Given the description of an element on the screen output the (x, y) to click on. 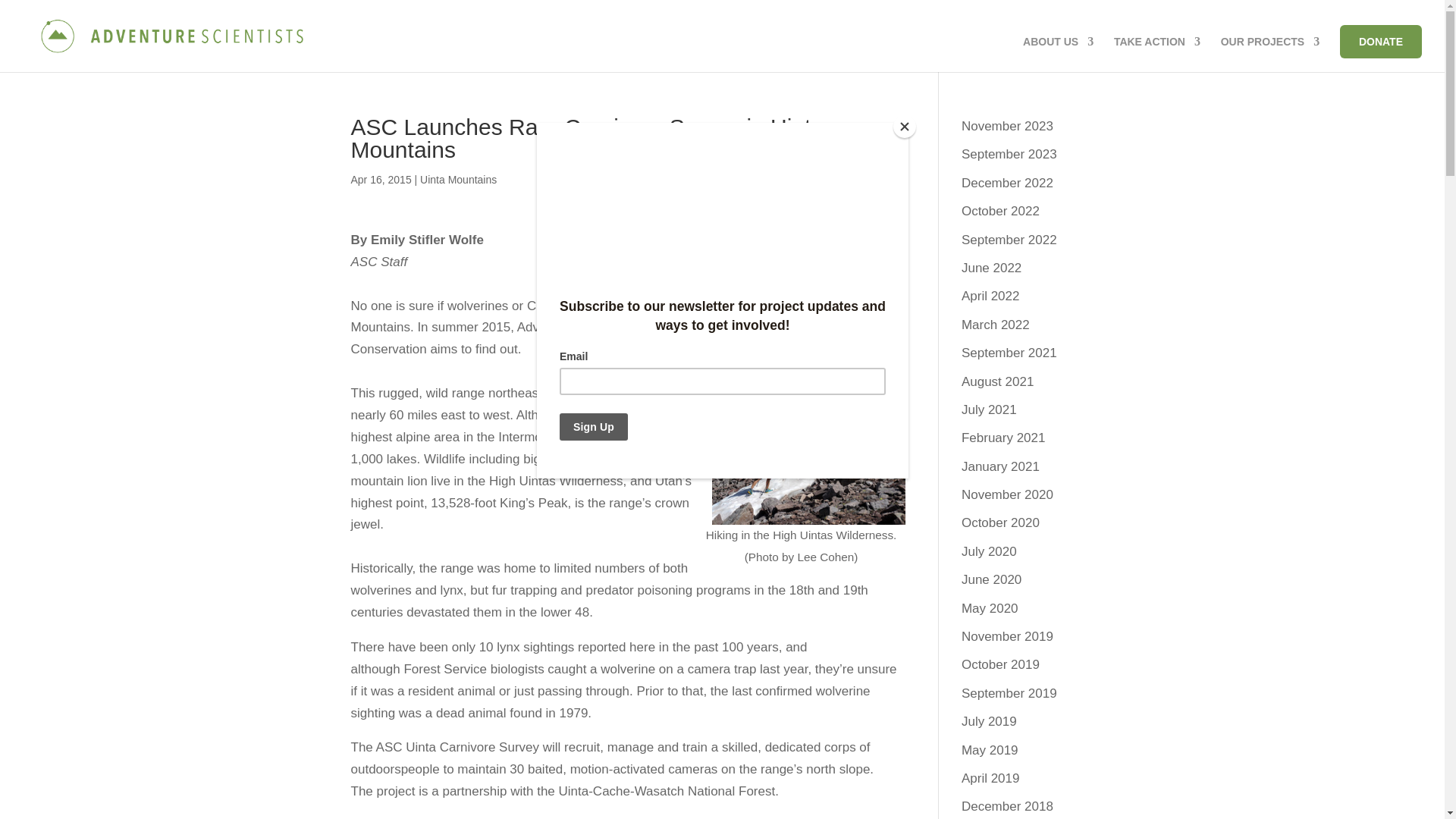
ABOUT US (1058, 54)
DONATE (1380, 41)
TAKE ACTION (1156, 54)
OUR PROJECTS (1270, 54)
